Given the description of an element on the screen output the (x, y) to click on. 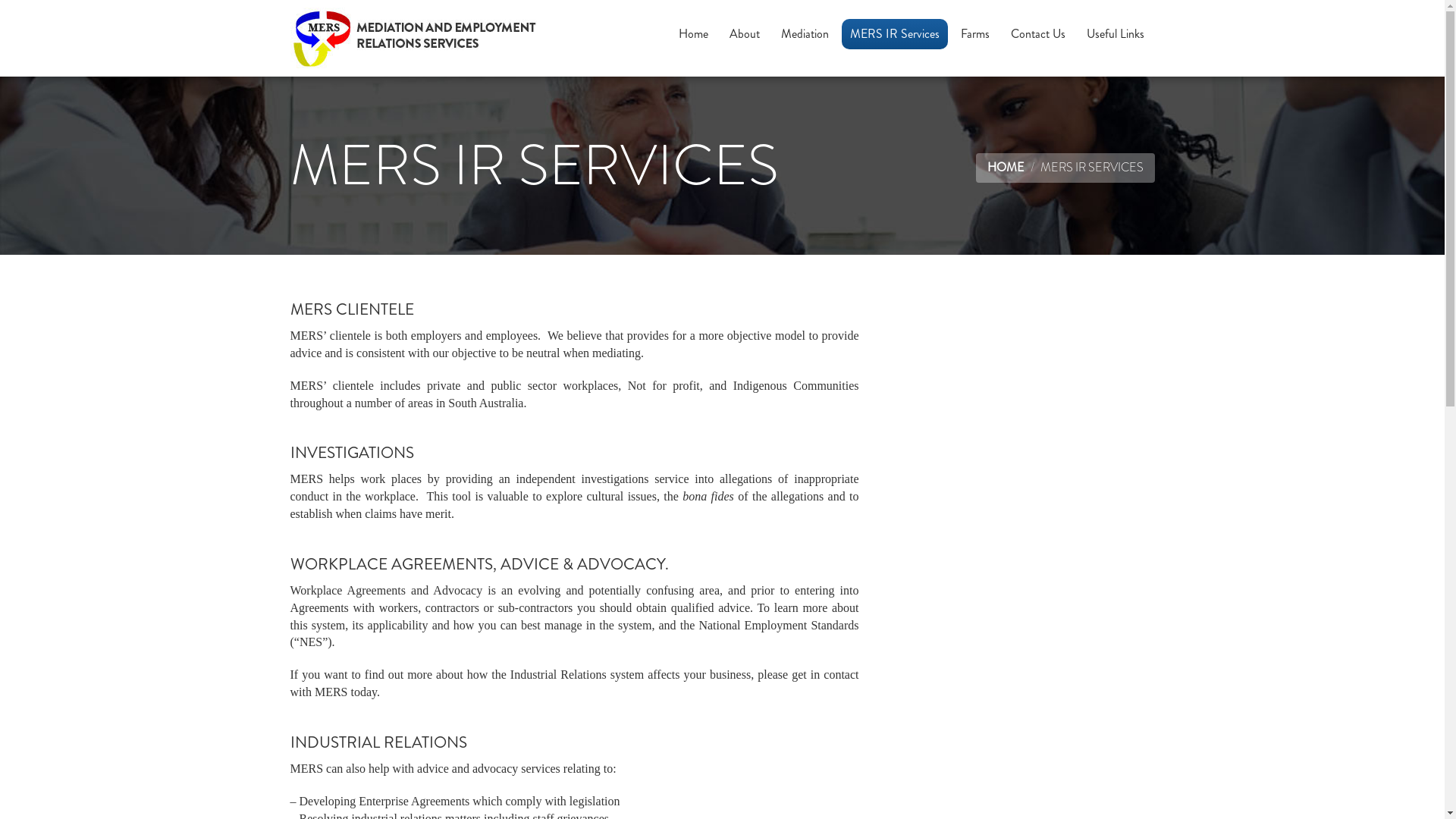
HOME Element type: text (1005, 166)
Useful Links Element type: text (1115, 33)
Mediation Element type: text (803, 33)
About Element type: text (743, 33)
Contact Us Element type: text (1037, 33)
Home Element type: text (693, 33)
MERS IR Services Element type: text (894, 33)
Farms Element type: text (974, 33)
